Given the description of an element on the screen output the (x, y) to click on. 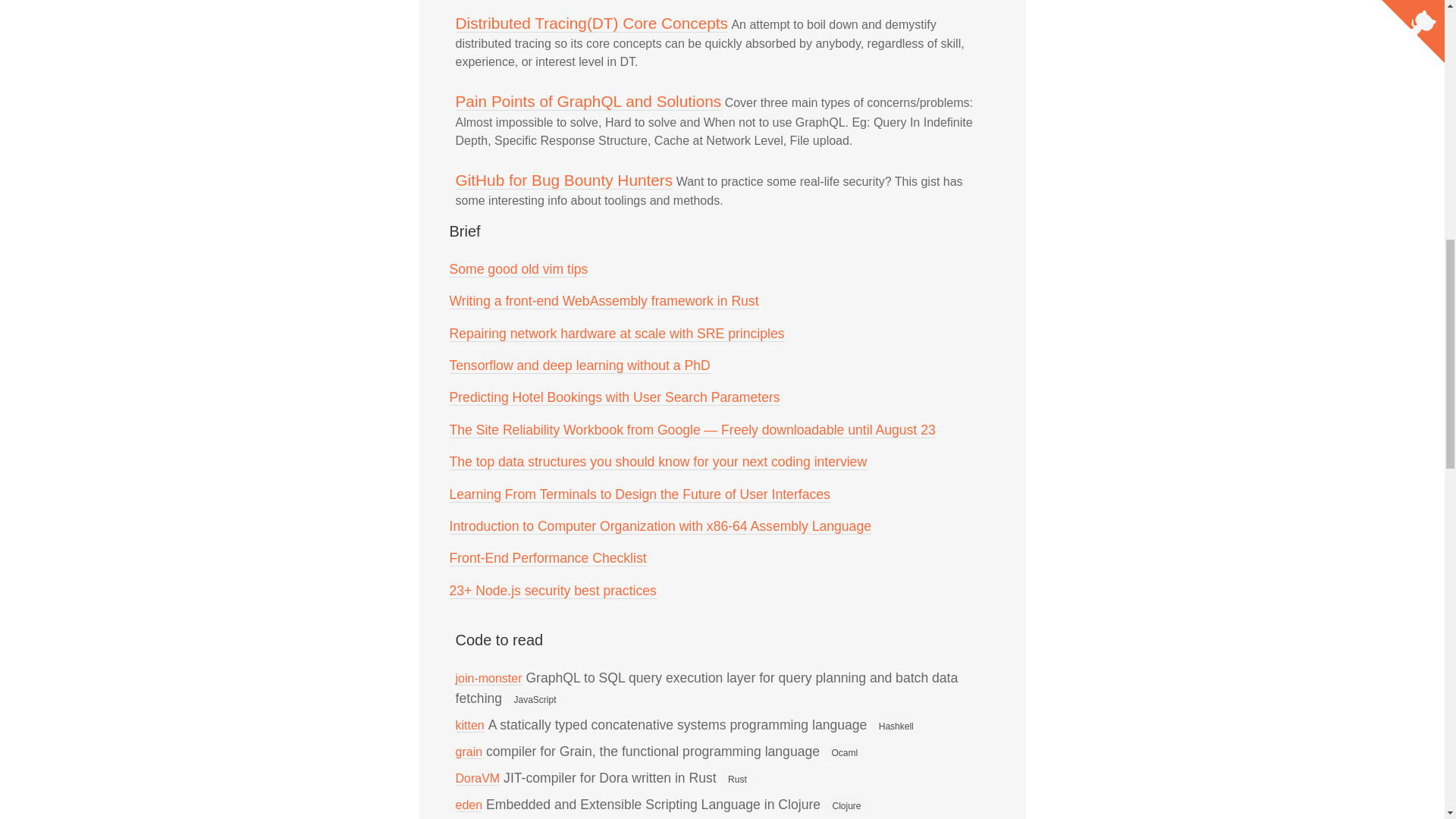
GitHub for Bug Bounty Hunters (563, 180)
Tensorflow and deep learning without a PhD (579, 365)
Repairing network hardware at scale with SRE principles (616, 333)
Some good old vim tips (518, 269)
Predicting Hotel Bookings with User Search Parameters (613, 397)
Pain Points of GraphQL and Solutions (587, 101)
DoraVM (476, 778)
join-monster (487, 678)
grain (467, 752)
Front-End Performance Checklist (547, 558)
Writing a front-end WebAssembly framework in Rust (603, 301)
eden (467, 805)
